Given the description of an element on the screen output the (x, y) to click on. 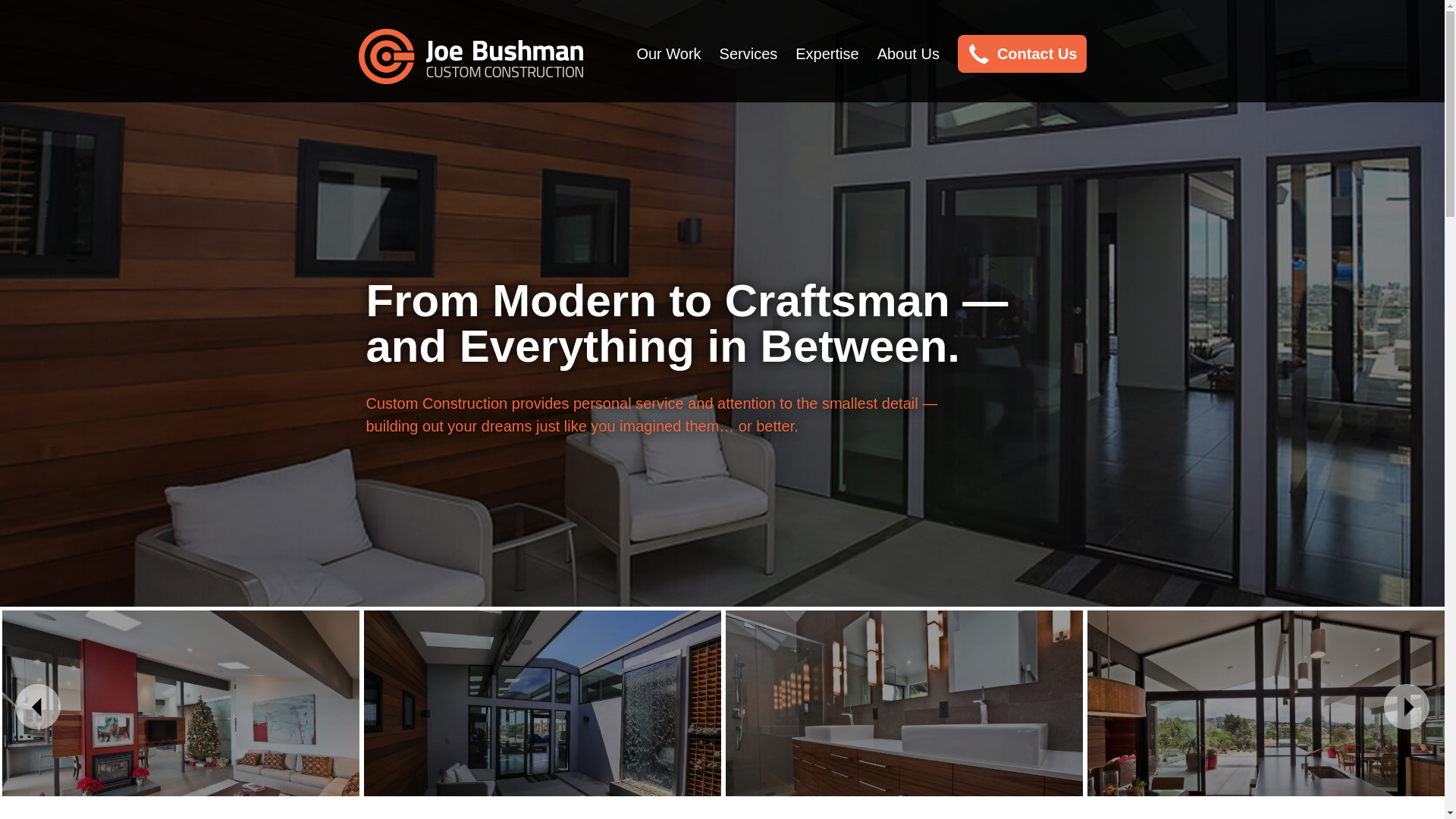
About Us (908, 53)
Our Work (668, 53)
Expertise (826, 53)
Services (748, 53)
